Given the description of an element on the screen output the (x, y) to click on. 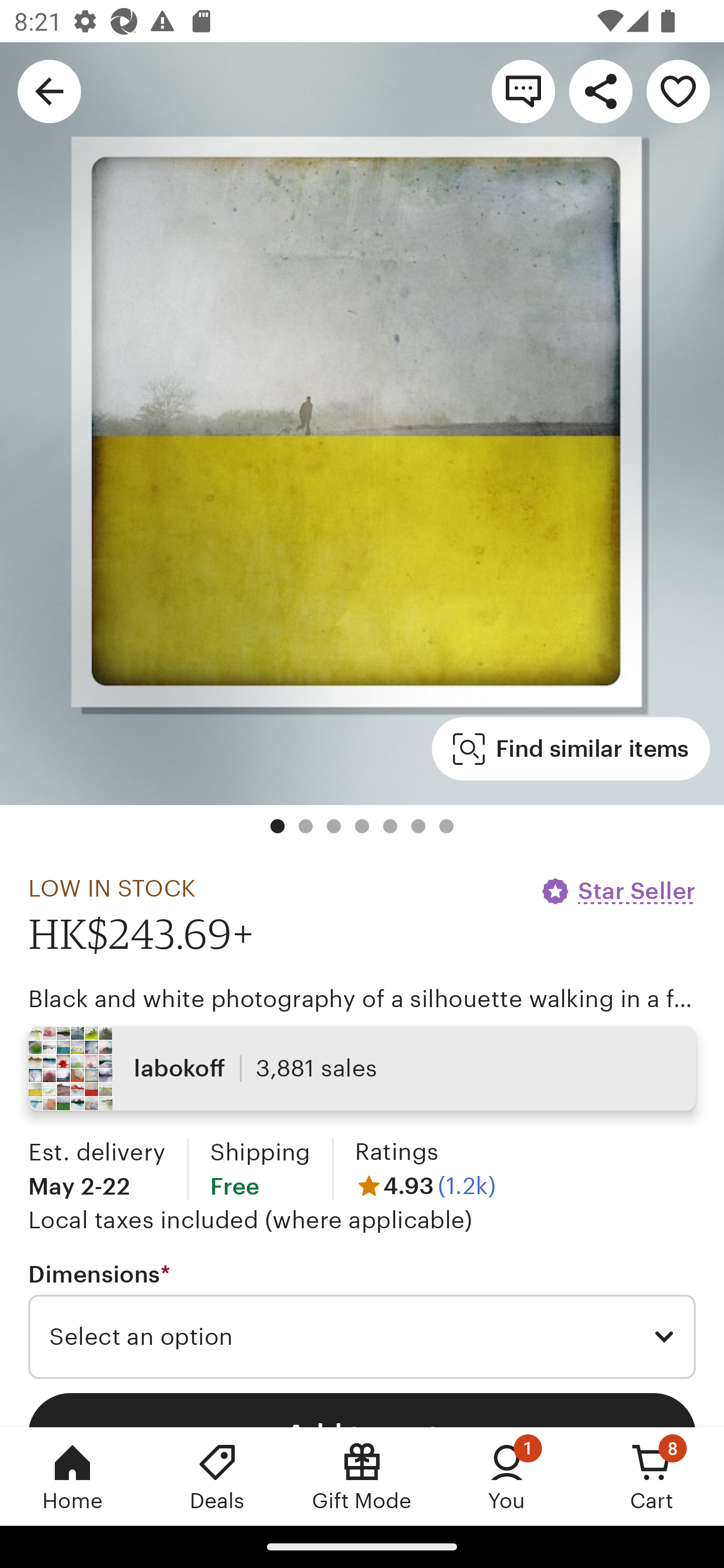
Navigate up (49, 90)
Contact shop (523, 90)
Share (600, 90)
Find similar items (571, 748)
Star Seller (617, 890)
labokoff 3,881 sales (361, 1067)
Ratings (396, 1151)
4.93 (1.2k) (424, 1185)
Dimensions * Required Select an option (361, 1319)
Select an option (361, 1336)
Deals (216, 1475)
Gift Mode (361, 1475)
You, 1 new notification You (506, 1475)
Cart, 8 new notifications Cart (651, 1475)
